Given the description of an element on the screen output the (x, y) to click on. 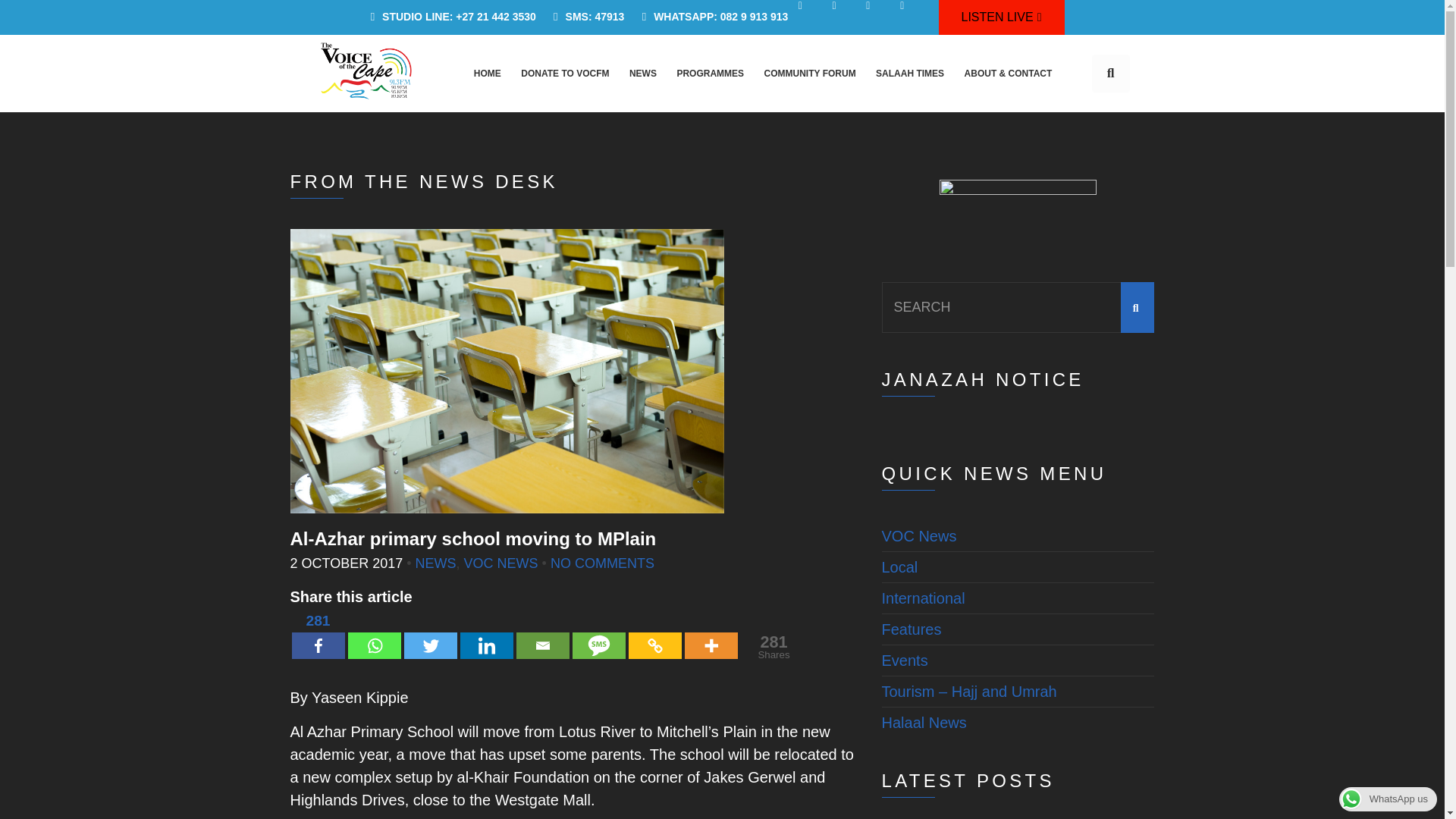
WHATSAPP: 082 9 913 913 (709, 17)
SALAAH TIMES (909, 73)
Linkedin (486, 634)
Total Shares (774, 646)
More (710, 634)
HOME (486, 73)
PROGRAMMES (709, 73)
Facebook (317, 634)
Twitter (430, 634)
SMS (598, 634)
